Given the description of an element on the screen output the (x, y) to click on. 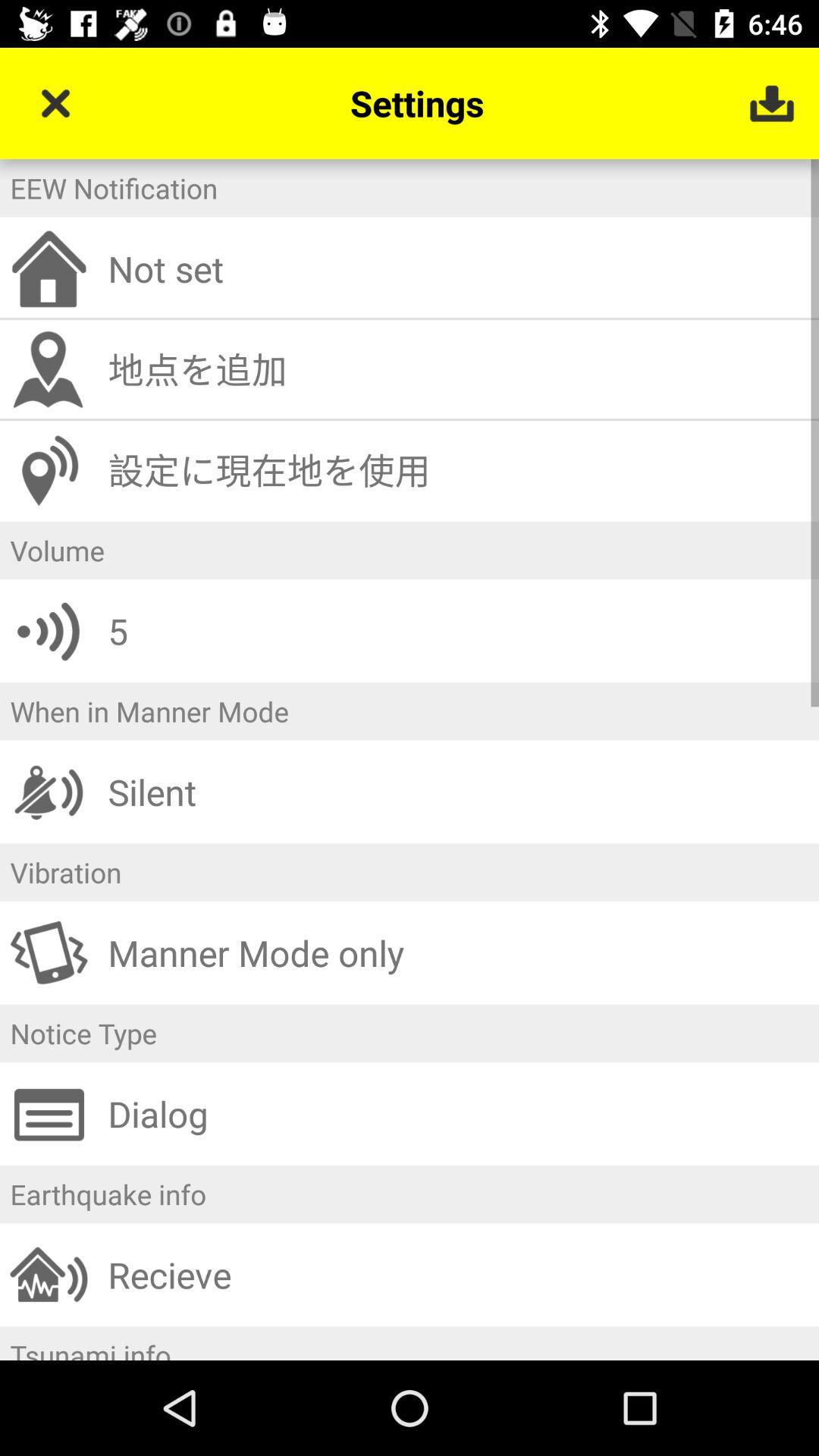
click the icon below when in manner (458, 791)
